Given the description of an element on the screen output the (x, y) to click on. 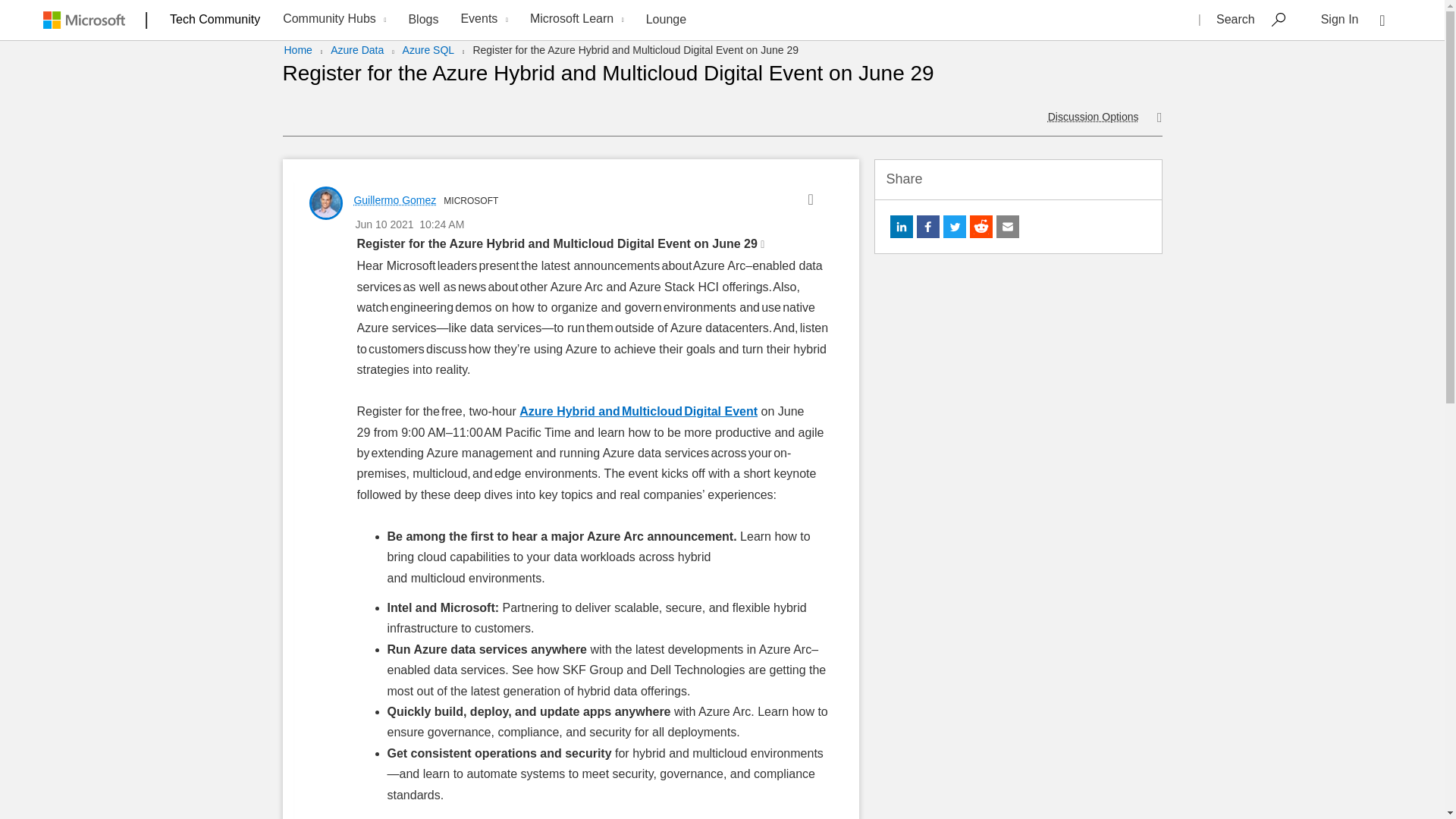
Tech Community (215, 18)
Community Hubs (332, 19)
